Given the description of an element on the screen output the (x, y) to click on. 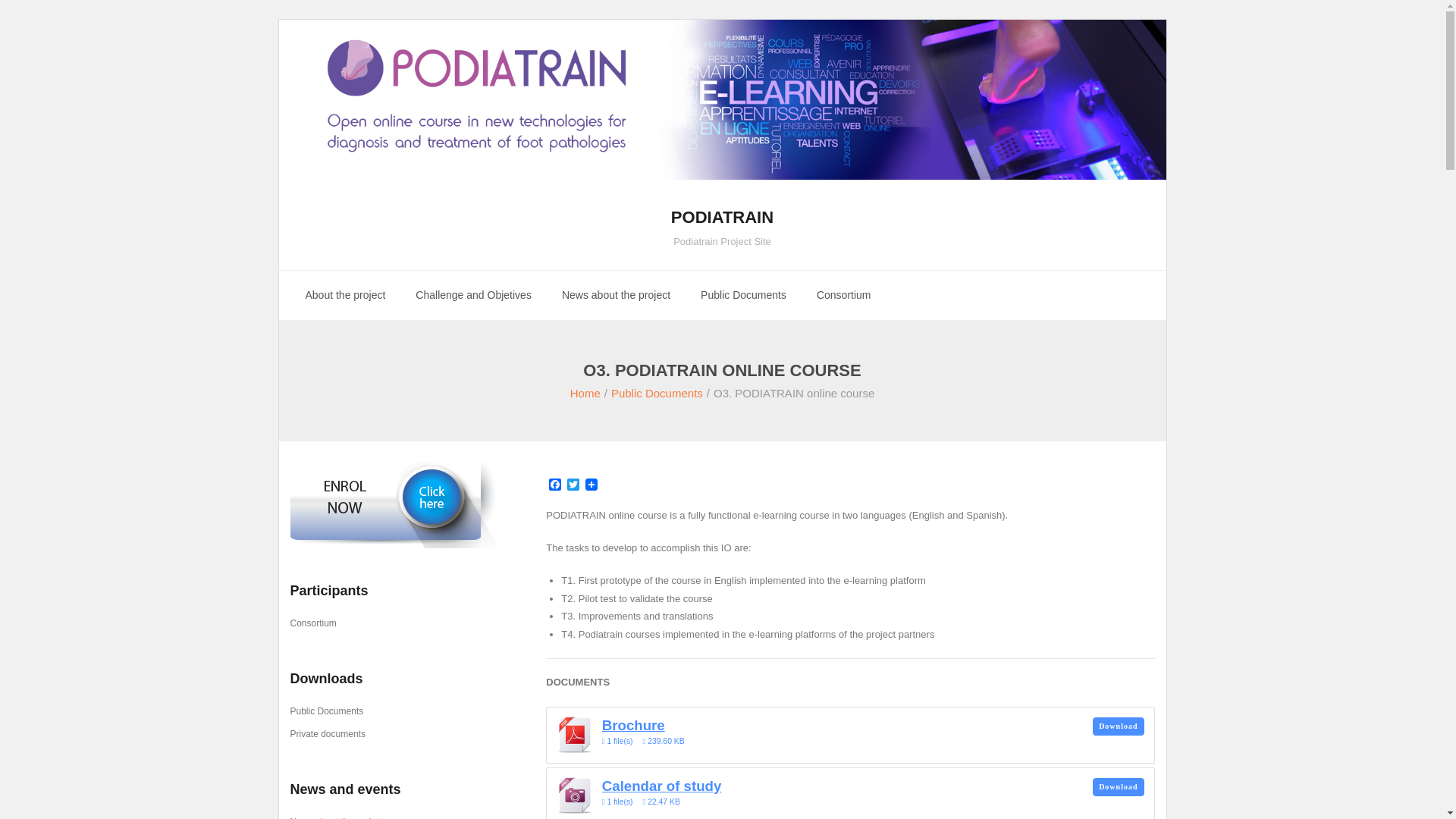
Challenge and Objetives (473, 295)
Home (584, 392)
Consortium (844, 295)
Twitter (573, 485)
Facebook (722, 223)
Public Documents (555, 485)
News about the project (657, 392)
Download (616, 295)
Calendar of study (1118, 787)
